Given the description of an element on the screen output the (x, y) to click on. 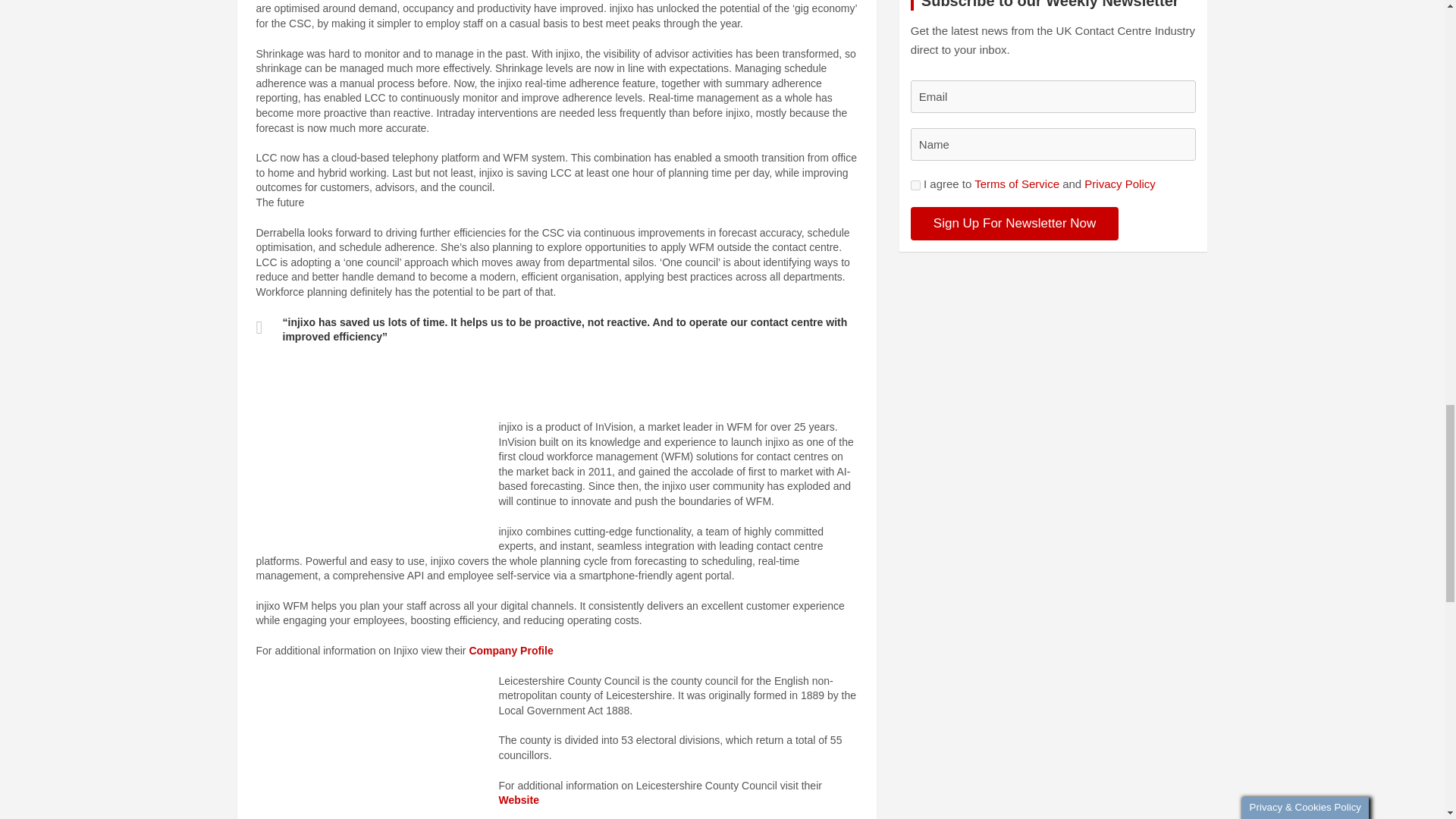
1 (915, 185)
Sign Up For Newsletter Now (1014, 223)
Email (1053, 96)
Website (518, 799)
Company Profile (510, 650)
Name (1053, 143)
